Given the description of an element on the screen output the (x, y) to click on. 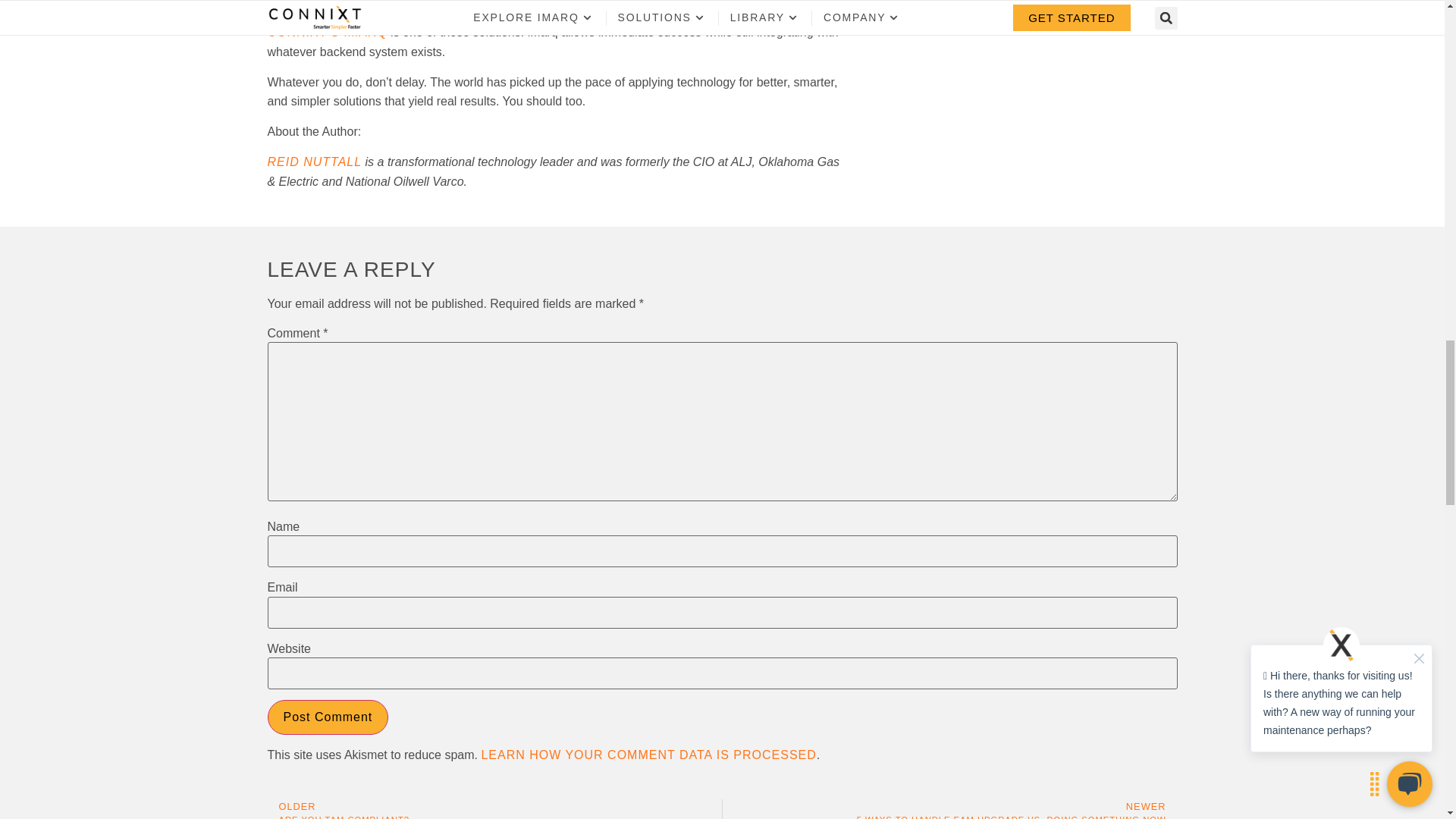
Post Comment (327, 717)
